Given the description of an element on the screen output the (x, y) to click on. 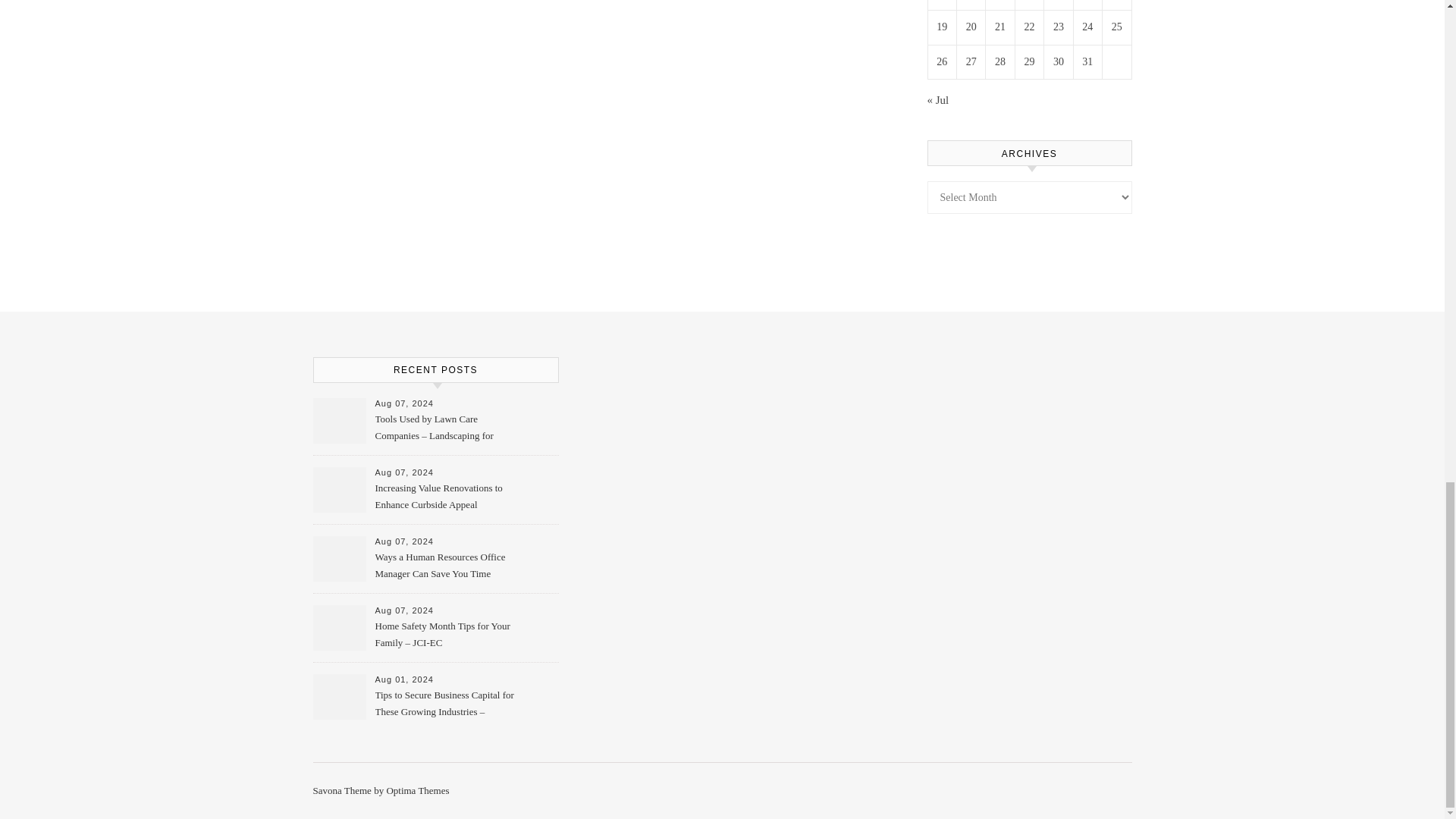
Ways a Human Resources Office Manager Can Save You Time (444, 565)
Optima Themes (416, 790)
Increasing Value Renovations to Enhance Curbside Appeal (444, 497)
